Given the description of an element on the screen output the (x, y) to click on. 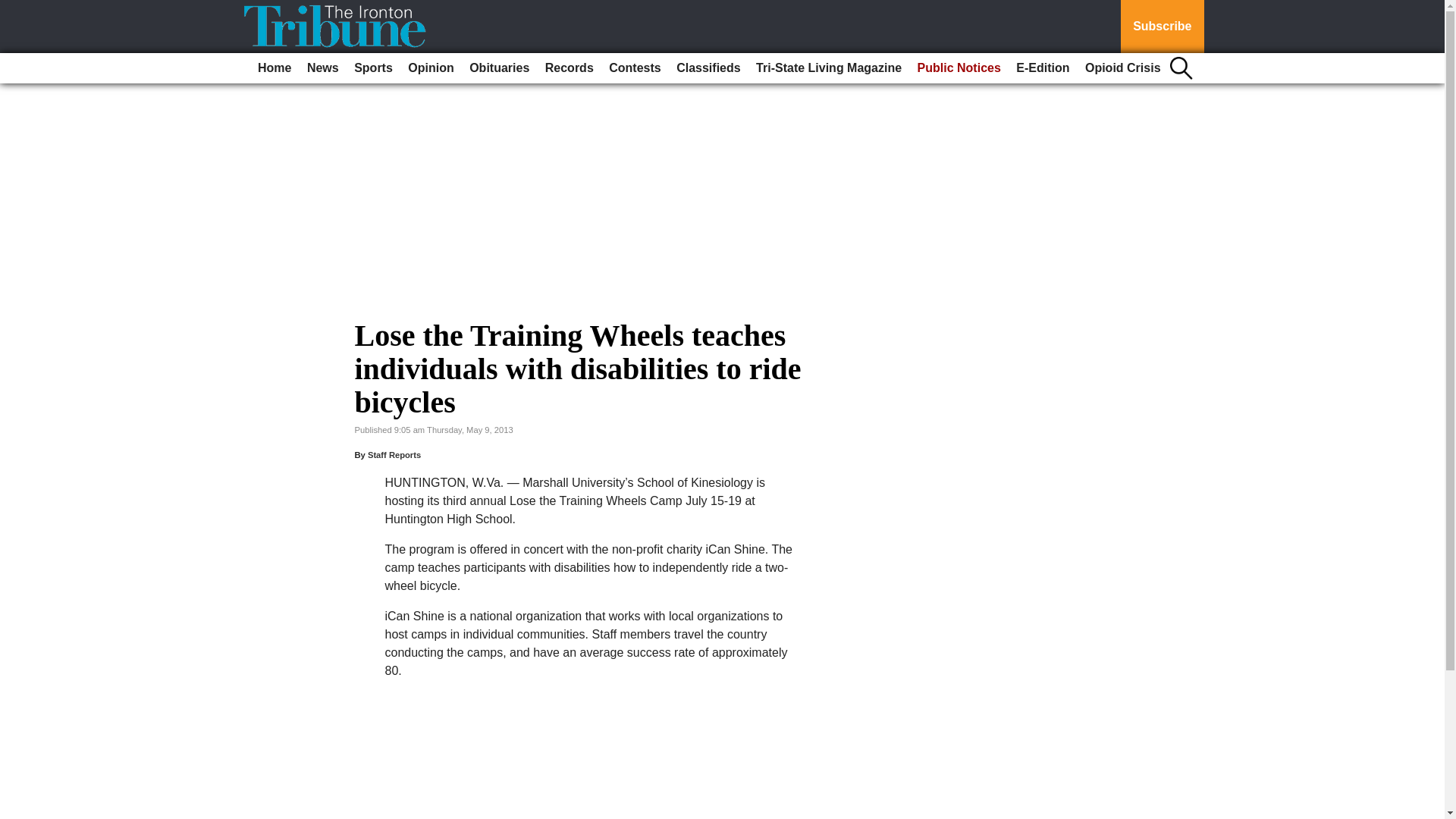
Records (568, 68)
Public Notices (959, 68)
Classifieds (707, 68)
Opinion (430, 68)
Contests (634, 68)
Subscribe (1162, 26)
Staff Reports (394, 454)
News (323, 68)
Go (13, 9)
Home (274, 68)
